Given the description of an element on the screen output the (x, y) to click on. 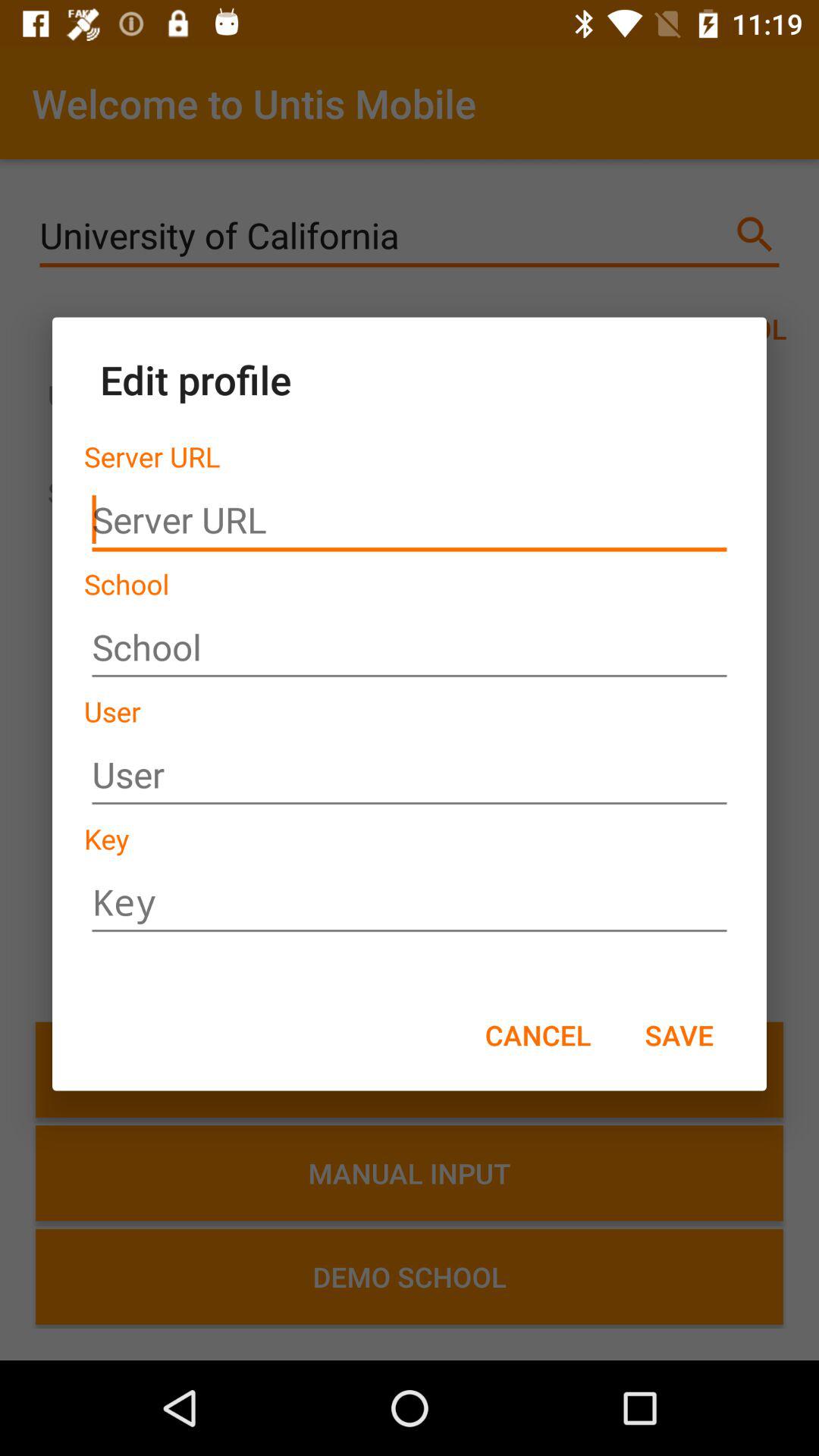
flip until the cancel icon (538, 1034)
